Given the description of an element on the screen output the (x, y) to click on. 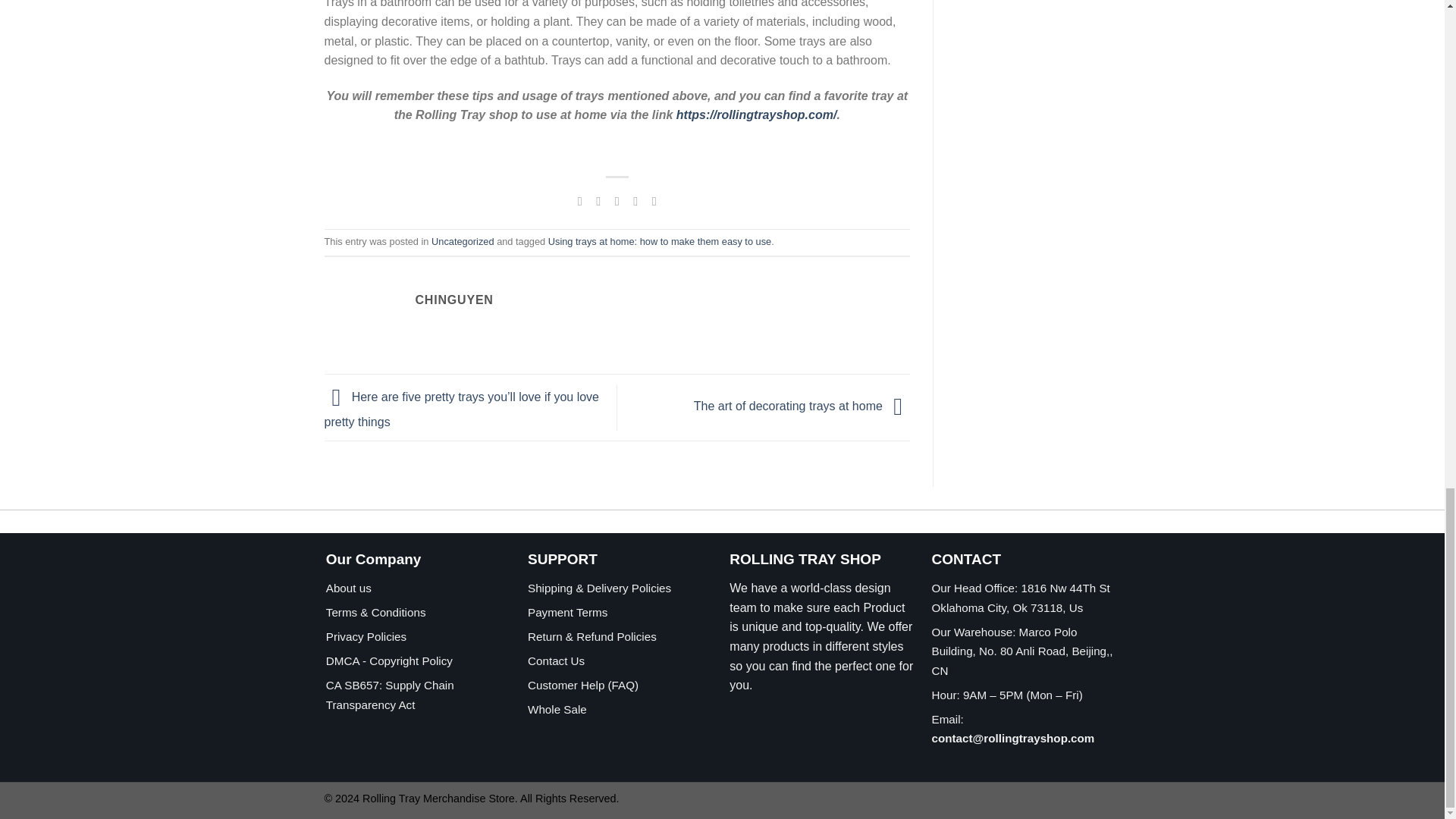
Email to a Friend (617, 201)
Share on LinkedIn (654, 201)
Share on Twitter (598, 201)
Pin on Pinterest (635, 201)
Share on Facebook (579, 201)
